Given the description of an element on the screen output the (x, y) to click on. 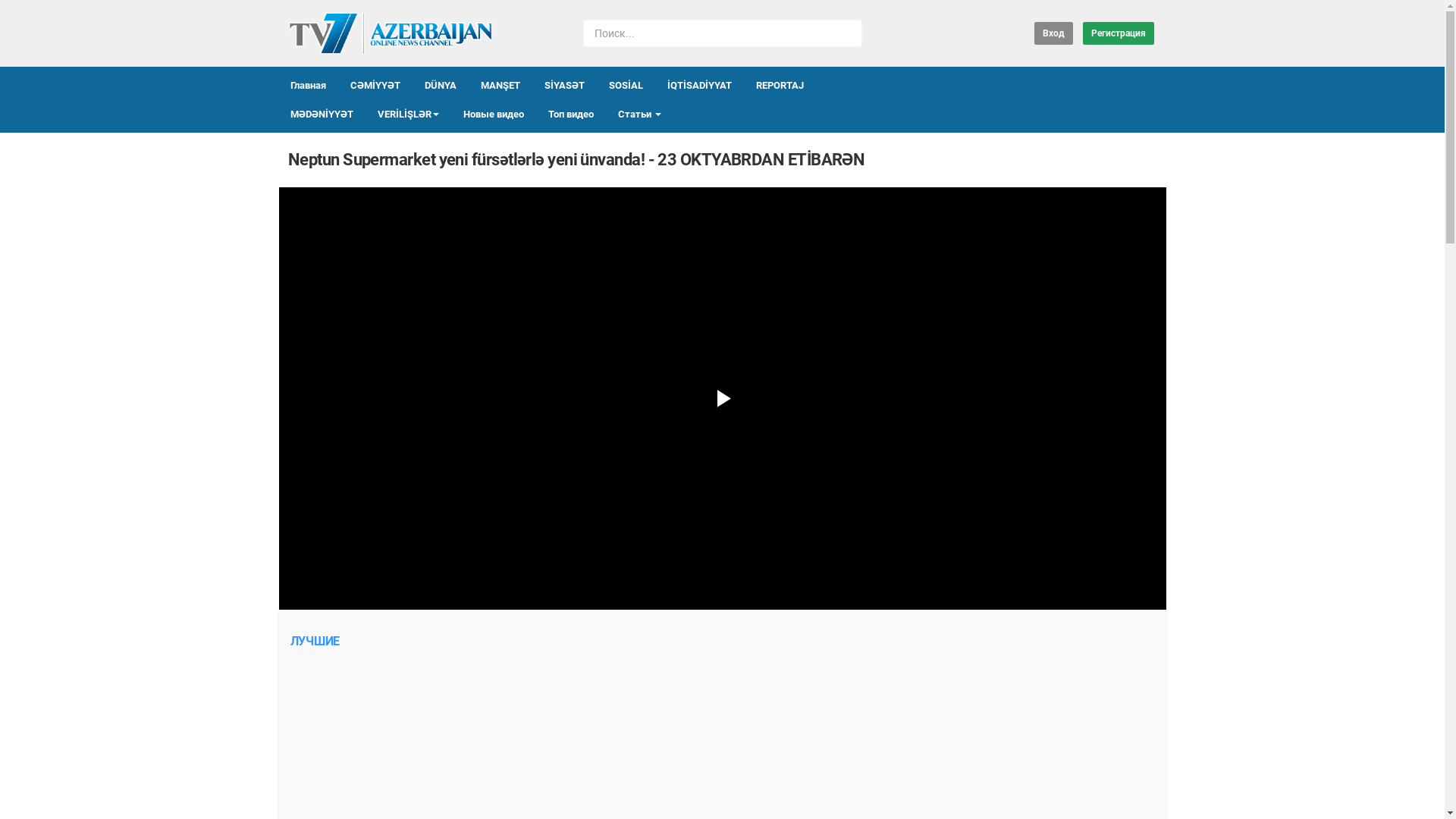
REPORTAJ Element type: text (779, 85)
TV7.az Element type: hover (389, 33)
Play Video Element type: text (721, 398)
